Given the description of an element on the screen output the (x, y) to click on. 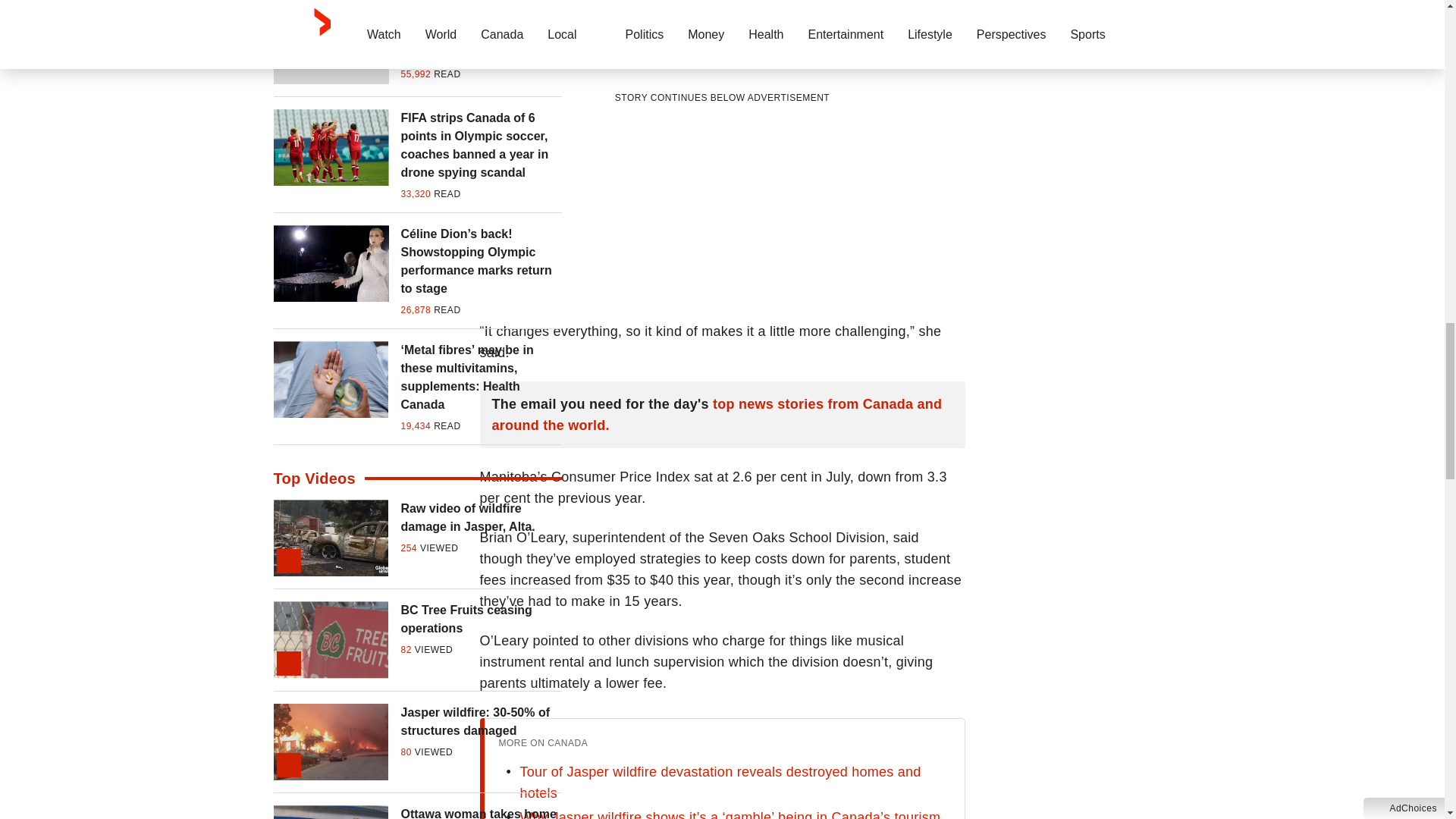
3rd party ad content (721, 201)
BC Tree Fruits ceasing operations (480, 619)
Raw video of wildfire damage in Jasper, Alta. (480, 517)
